Given the description of an element on the screen output the (x, y) to click on. 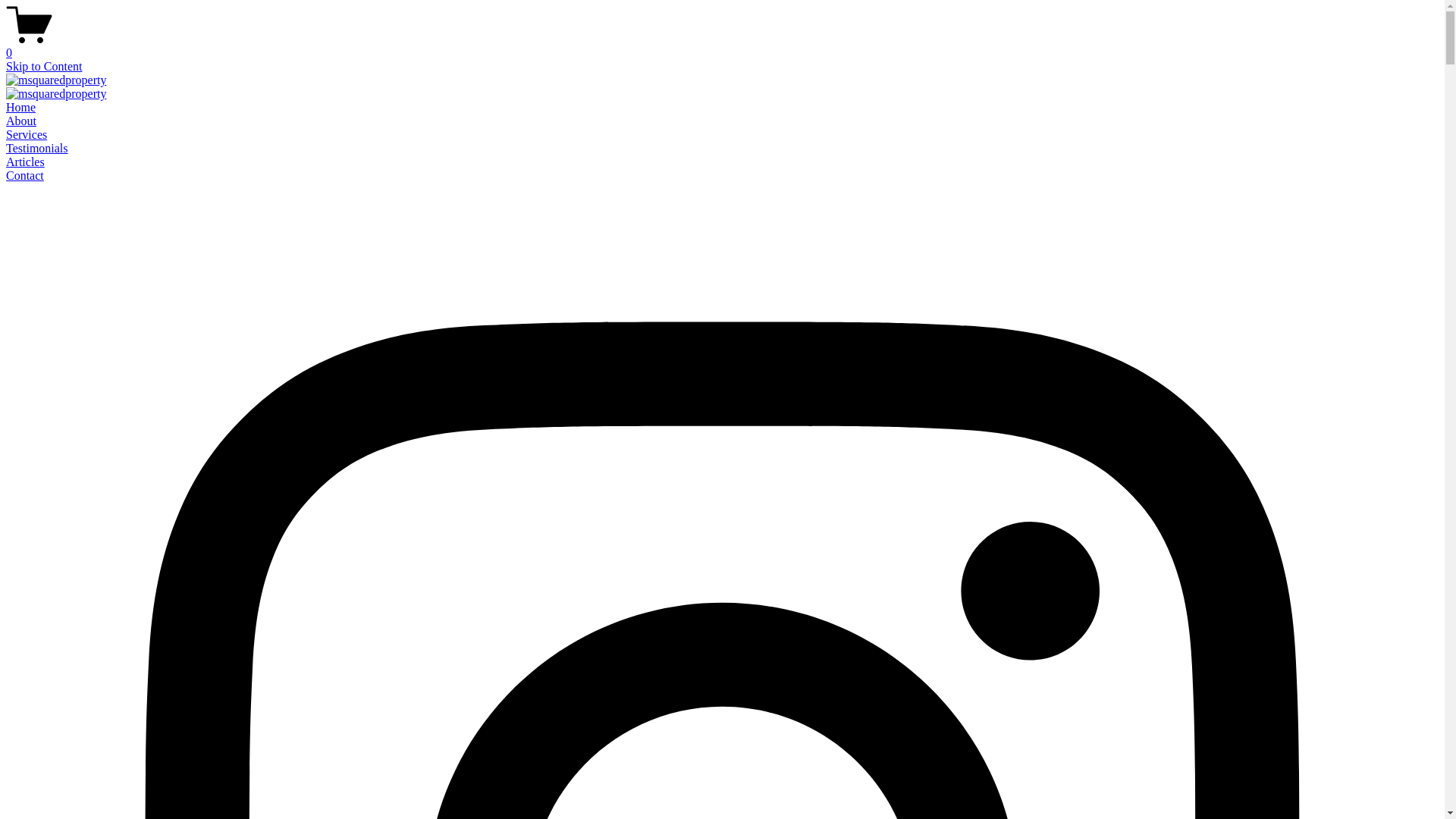
Services Element type: text (26, 134)
0 Element type: text (722, 45)
Testimonials Element type: text (37, 147)
Articles Element type: text (25, 161)
About Element type: text (21, 120)
Contact Element type: text (24, 175)
Skip to Content Element type: text (43, 65)
Home Element type: text (20, 106)
